Given the description of an element on the screen output the (x, y) to click on. 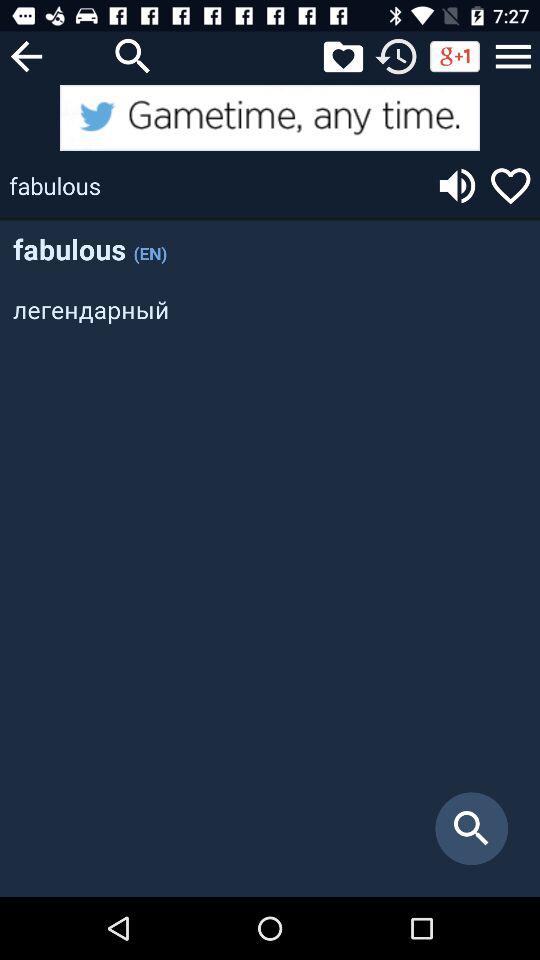
go to previous (26, 56)
